Given the description of an element on the screen output the (x, y) to click on. 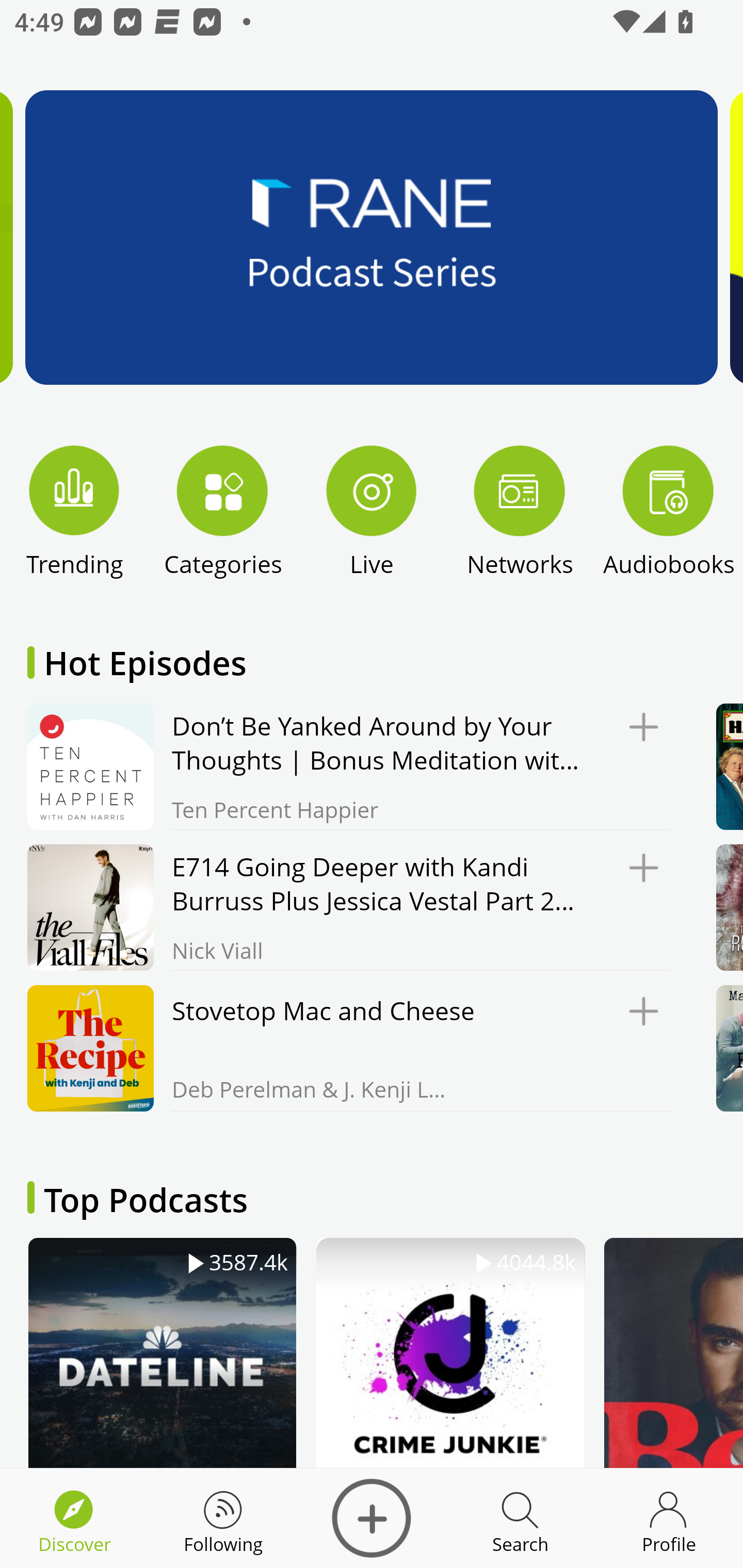
Top Podcasts 3587.4k 4044.8k (371, 1301)
3587.4k (162, 1352)
4044.8k (450, 1352)
Discover Following (222, 1518)
Discover (371, 1518)
Discover Search (519, 1518)
Discover Profile (668, 1518)
